Given the description of an element on the screen output the (x, y) to click on. 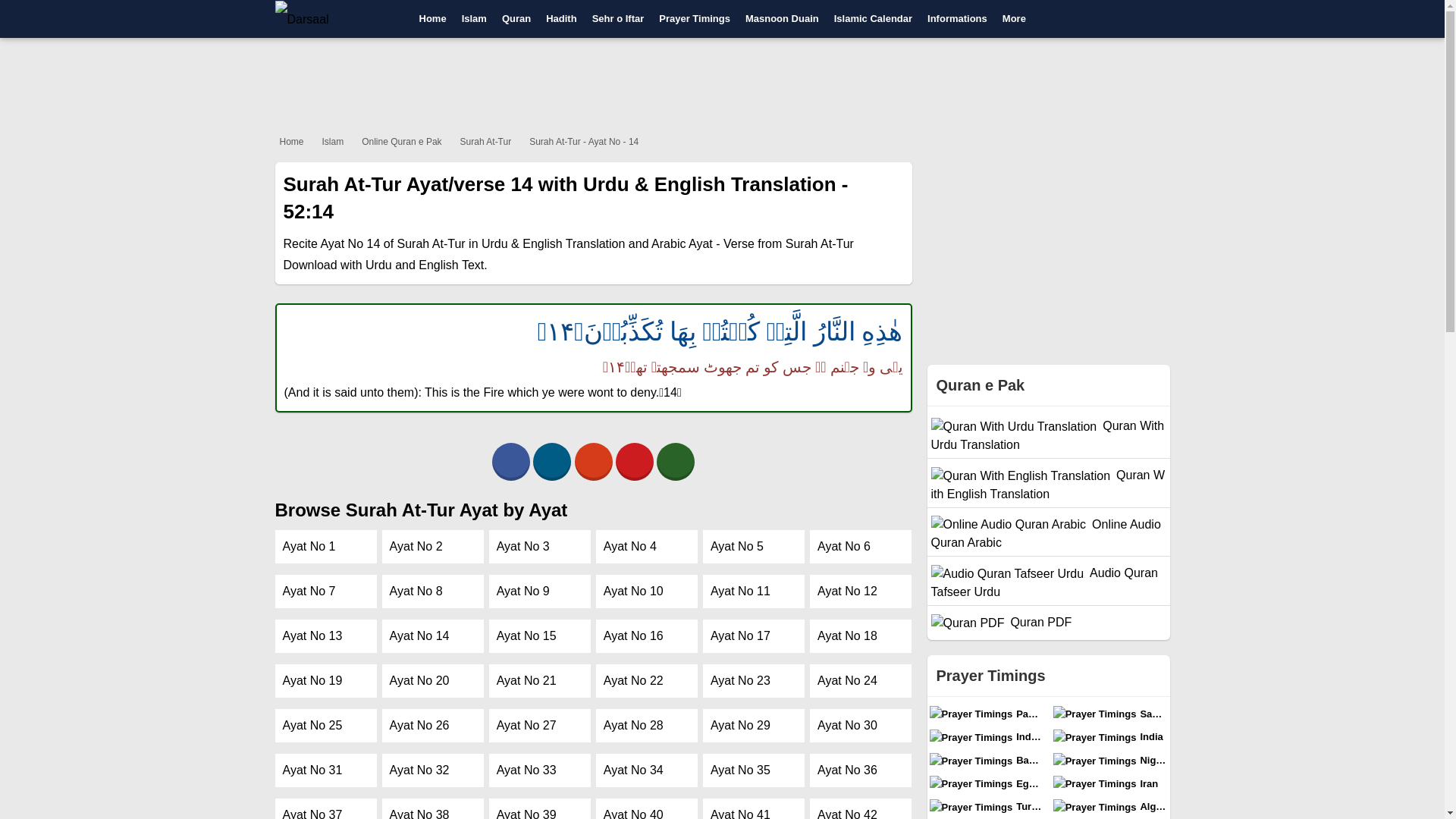
Informations (957, 18)
Sehr o Iftar (618, 18)
Hadith (560, 18)
Islamic Calendar (873, 18)
Islam (474, 18)
Home (431, 18)
Prayer Timings (694, 18)
Quran (516, 18)
Sehr o Iftar Timings (618, 18)
Islam Home (474, 18)
